Given the description of an element on the screen output the (x, y) to click on. 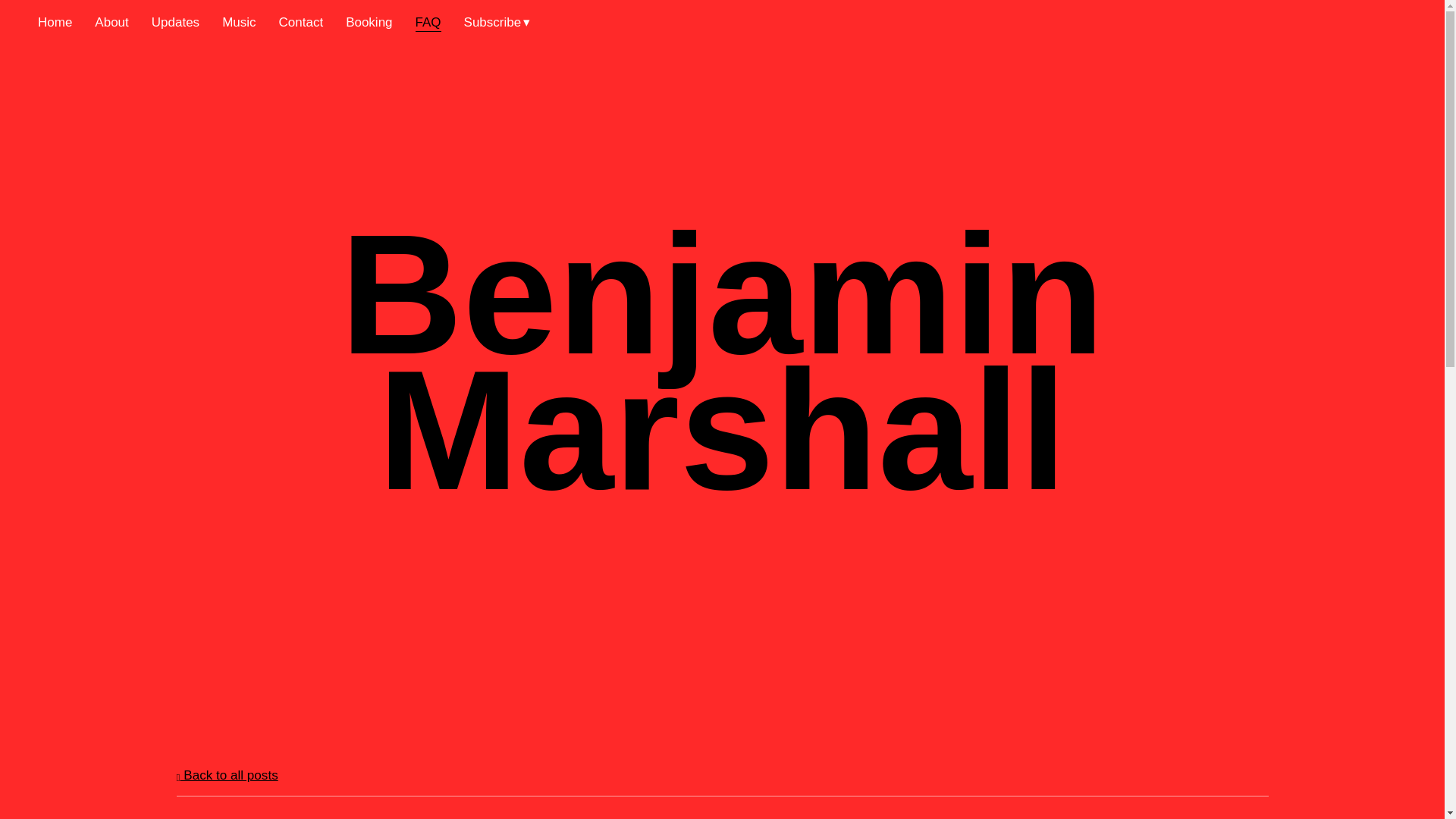
FAQ (427, 22)
Subscribe (497, 22)
Back to all posts (227, 775)
Music (239, 22)
Benjamin Marshall (721, 482)
Home (54, 22)
Contact (301, 22)
About (111, 22)
Updates (175, 22)
Booking (368, 22)
